Given the description of an element on the screen output the (x, y) to click on. 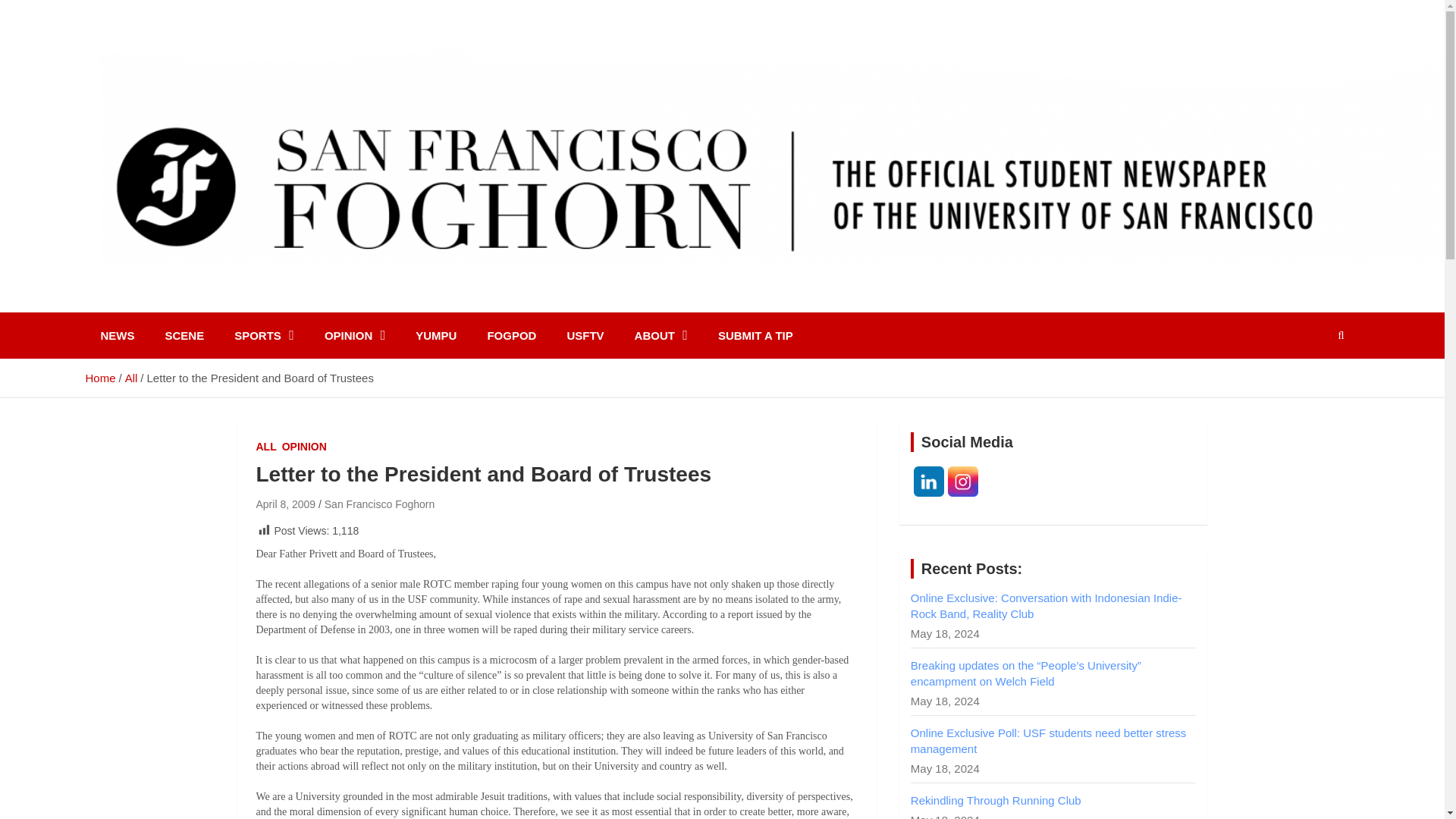
SPORTS (263, 335)
FOGPOD (511, 335)
Home (99, 377)
Instagram (962, 481)
NEWS (116, 335)
OPINION (354, 335)
SUBMIT A TIP (755, 335)
OPINION (304, 447)
San Francisco Foghorn (379, 503)
Letter to the President and Board of Trustees (285, 503)
SCENE (184, 335)
ALL (266, 447)
San Francisco Foghorn (253, 305)
ABOUT (661, 335)
